Given the description of an element on the screen output the (x, y) to click on. 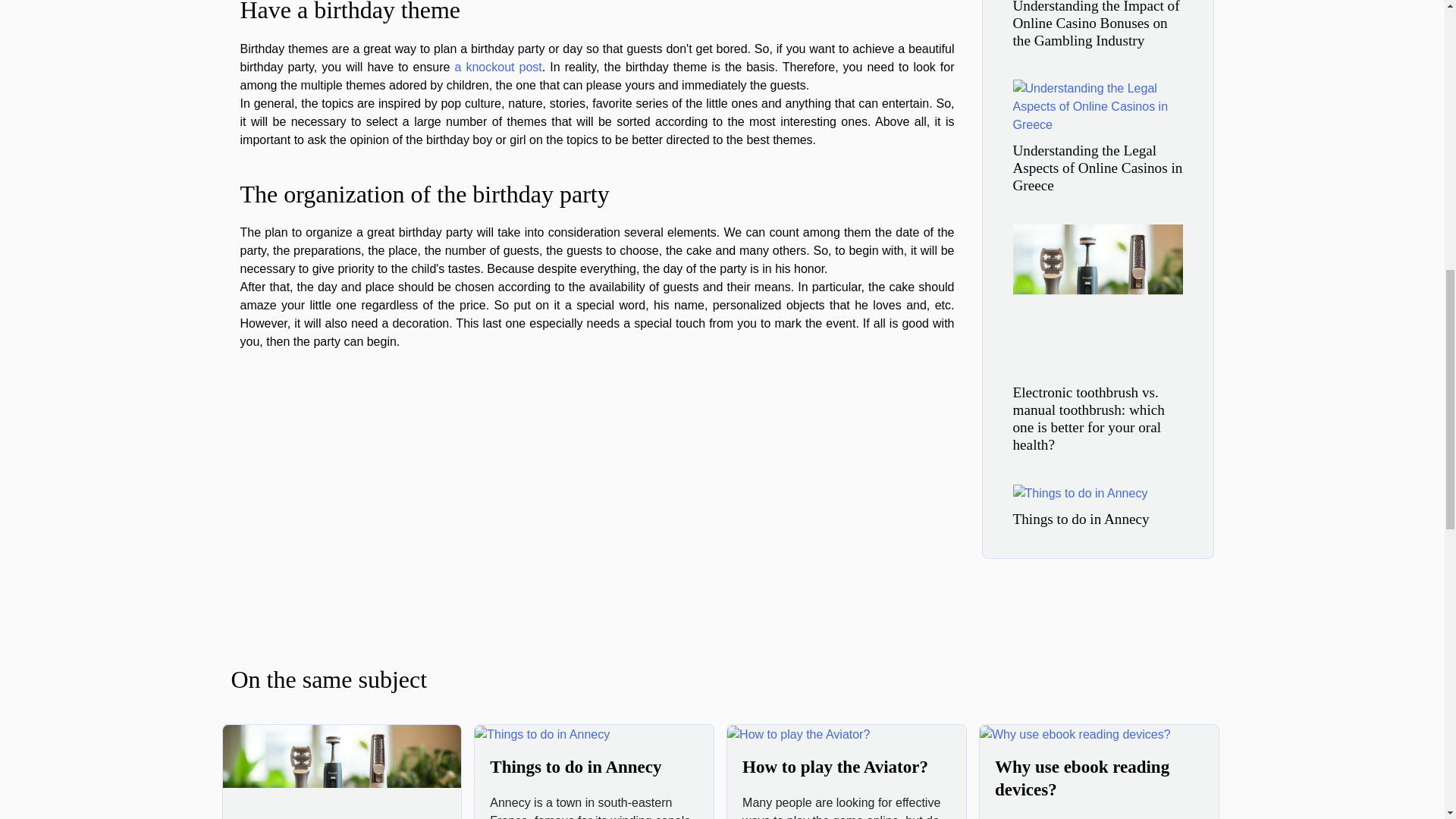
Understanding the Legal Aspects of Online Casinos in Greece (1097, 167)
How to play the Aviator? (835, 766)
a knockout post (497, 66)
Why use ebook reading devices? (1081, 778)
Why use ebook reading devices? (1074, 733)
Understanding the Legal Aspects of Online Casinos in Greece (1097, 167)
Things to do in Annecy (1081, 519)
Things to do in Annecy (575, 766)
Things to do in Annecy (542, 733)
Things to do in Annecy (1081, 519)
Things to do in Annecy (575, 766)
